Given the description of an element on the screen output the (x, y) to click on. 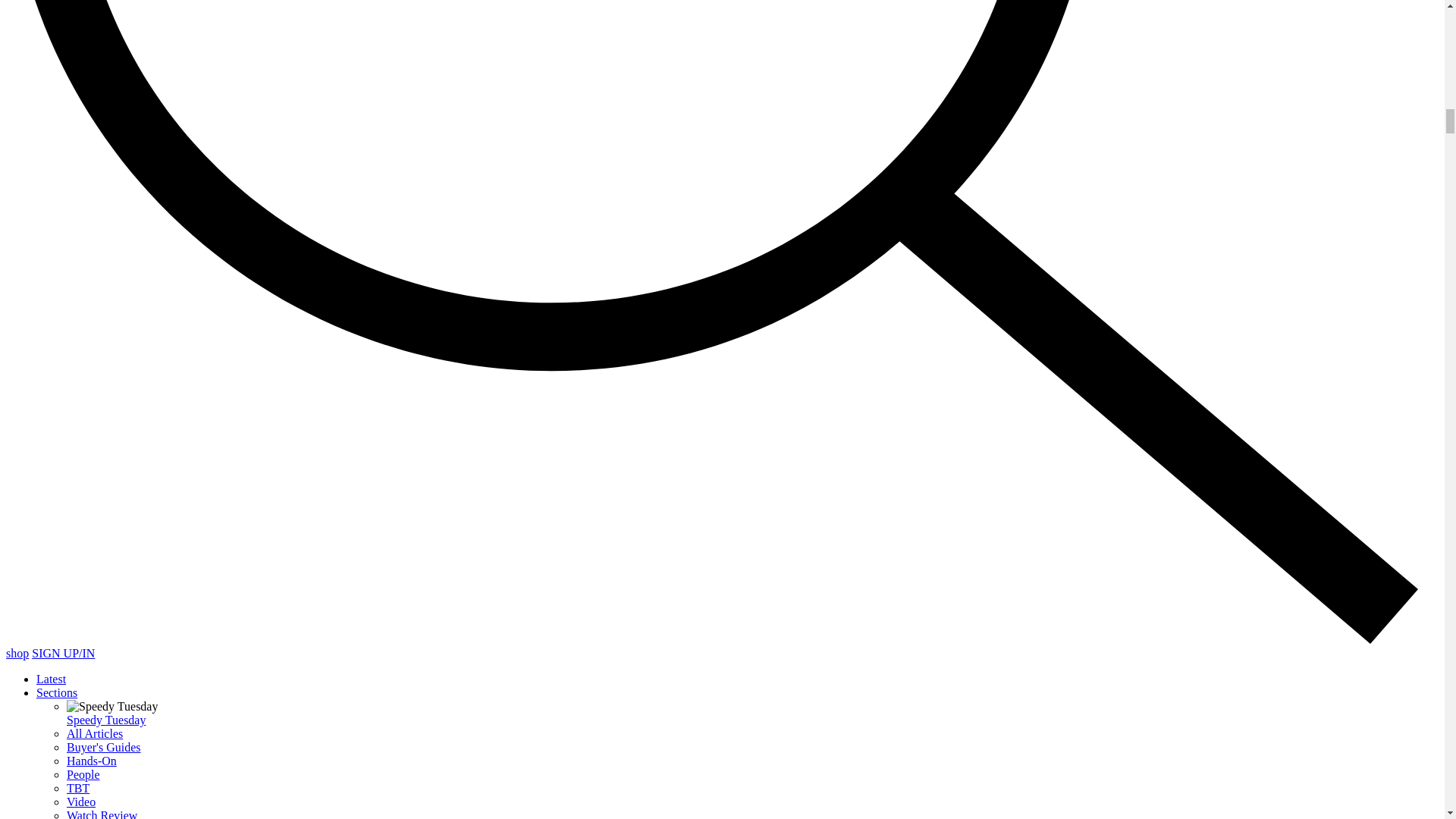
All Articles (94, 733)
Latest (50, 678)
Watch Review (101, 814)
Hands-On (91, 760)
People (83, 774)
Buyer's Guides (103, 747)
Video (81, 801)
Speedy Tuesday (105, 719)
Sections (56, 692)
shop (17, 653)
